Given the description of an element on the screen output the (x, y) to click on. 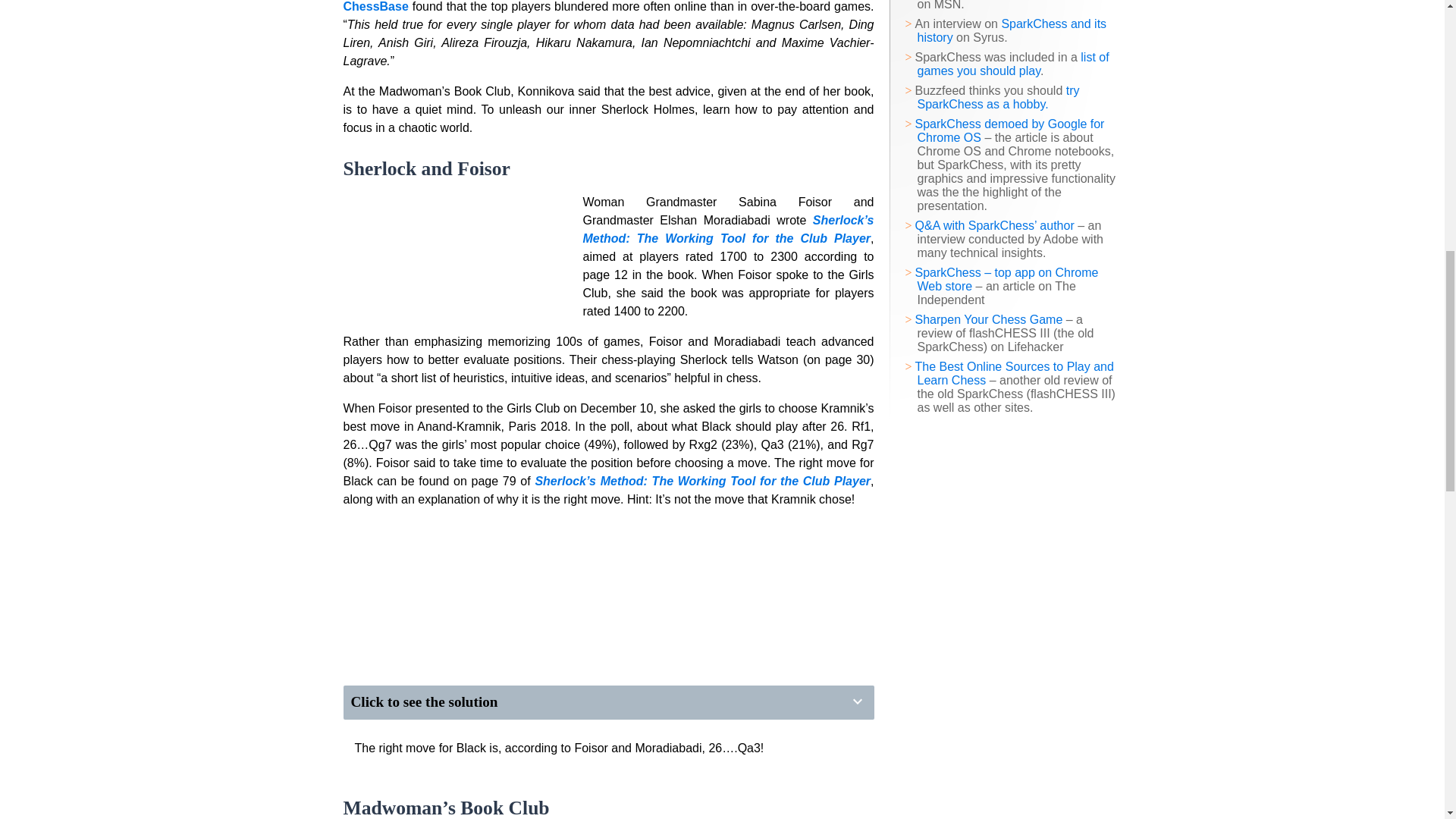
ChessBase (374, 6)
try SparkChess as a hobby. (998, 97)
SparkChess and its history (1011, 30)
list of games you should play (1013, 63)
